Given the description of an element on the screen output the (x, y) to click on. 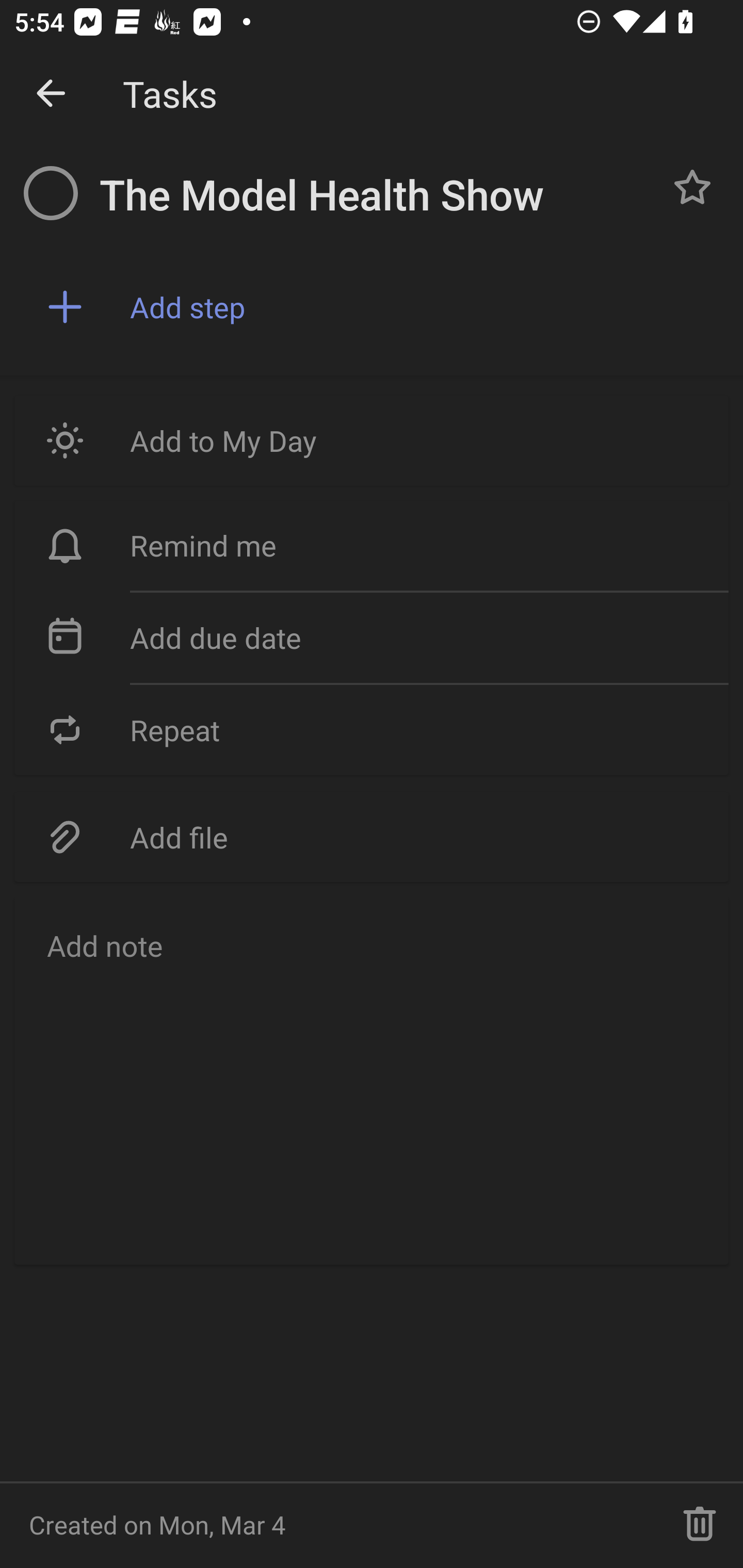
Dismiss detail view (50, 93)
Incomplete task The Model Health Show, Button (50, 192)
The Model Health Show (374, 195)
Normal task The Model Health Show, Button (692, 187)
Add step (422, 307)
Add to My Day (371, 440)
Remind me (371, 545)
Add due date (371, 637)
Repeat (371, 729)
Add file (371, 836)
Add note, Button Email Renderer Add note (371, 1080)
Delete task (699, 1524)
